Given the description of an element on the screen output the (x, y) to click on. 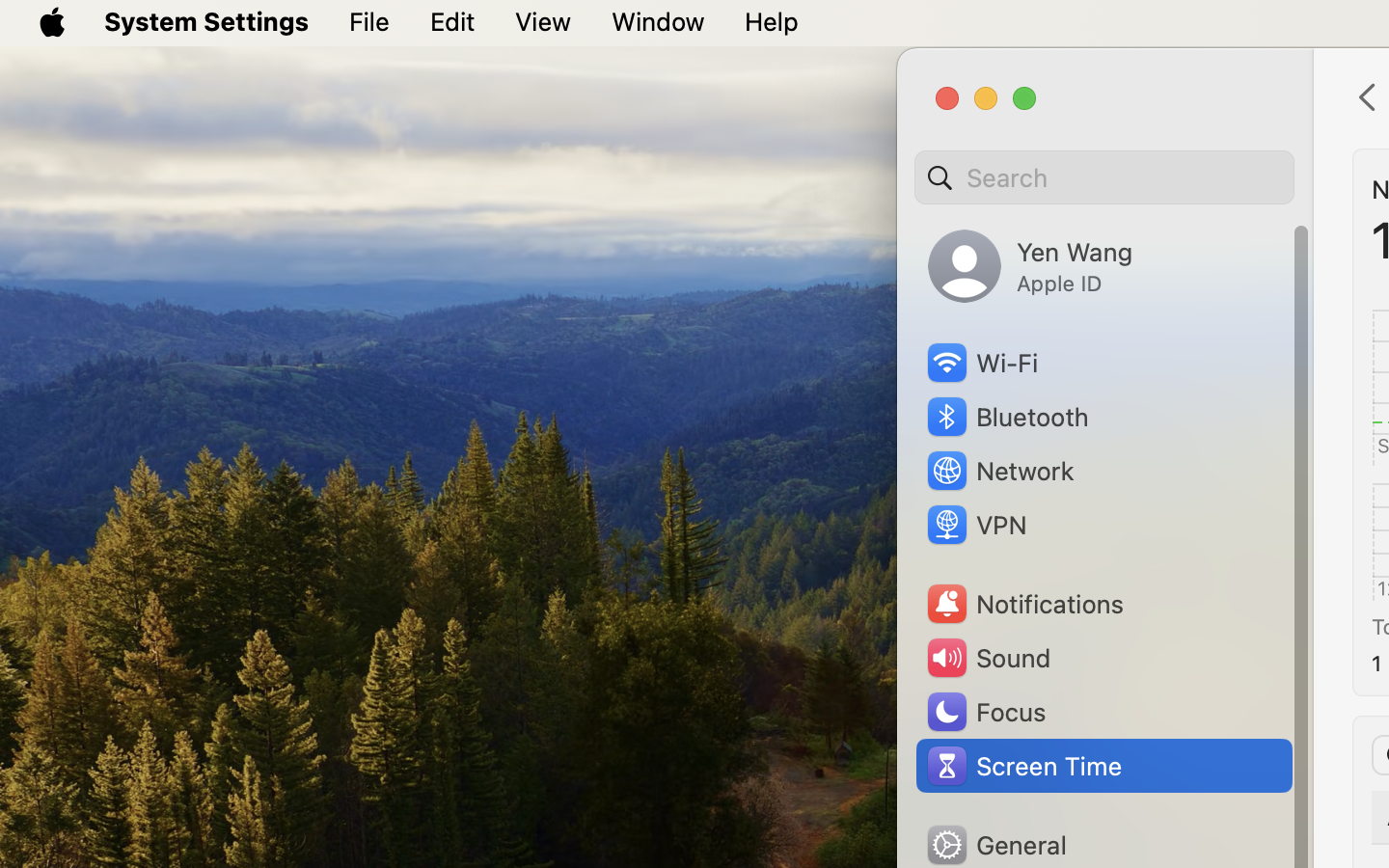
Focus Element type: AXStaticText (984, 711)
VPN Element type: AXStaticText (975, 524)
General Element type: AXStaticText (995, 844)
Screen Time Element type: AXStaticText (1023, 765)
Notifications Element type: AXStaticText (1024, 603)
